Given the description of an element on the screen output the (x, y) to click on. 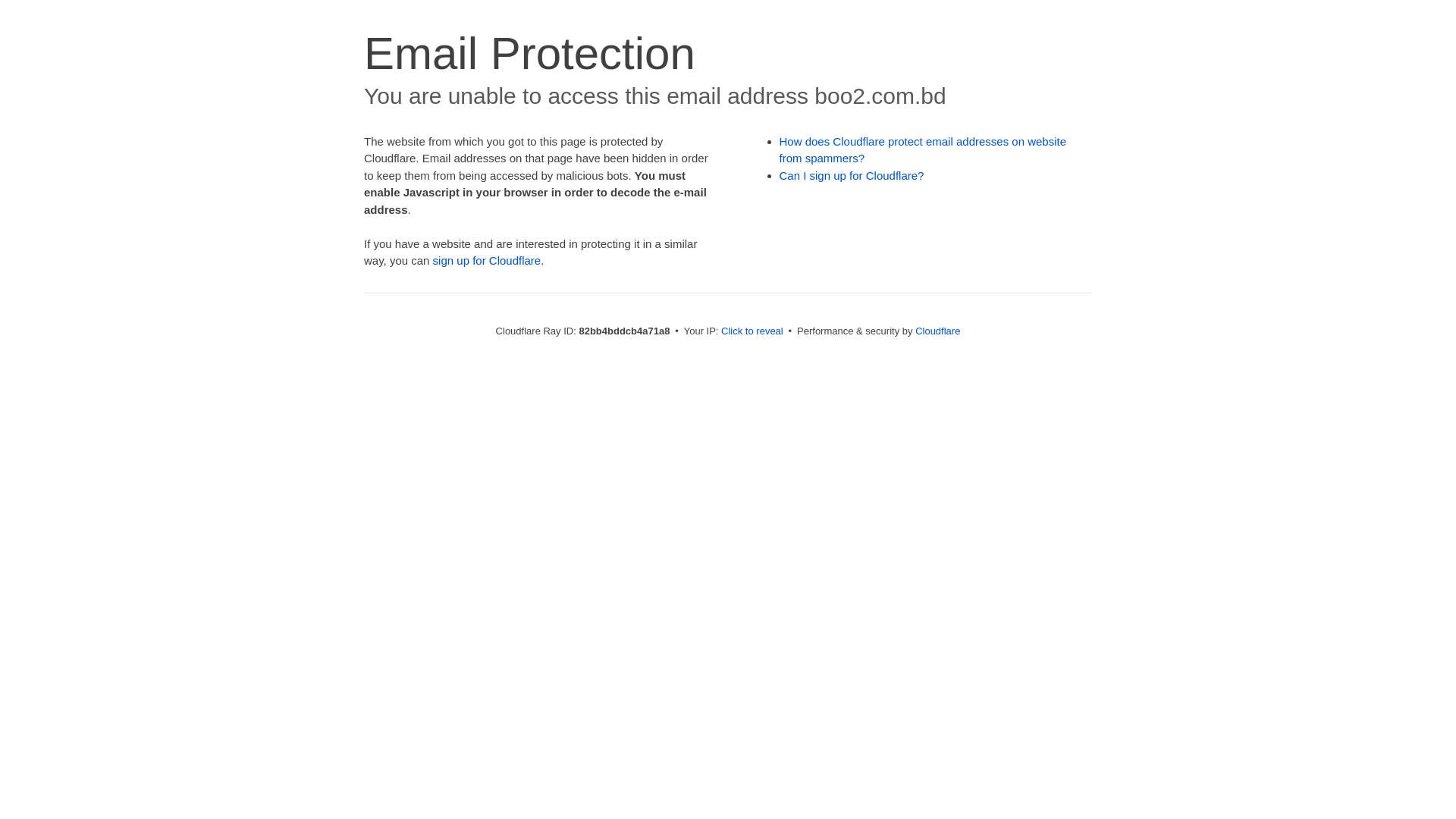
Can I sign up for Cloudflare? Element type: text (851, 175)
Cloudflare Element type: text (937, 330)
sign up for Cloudflare Element type: text (487, 260)
Click to reveal Element type: text (752, 330)
